Given the description of an element on the screen output the (x, y) to click on. 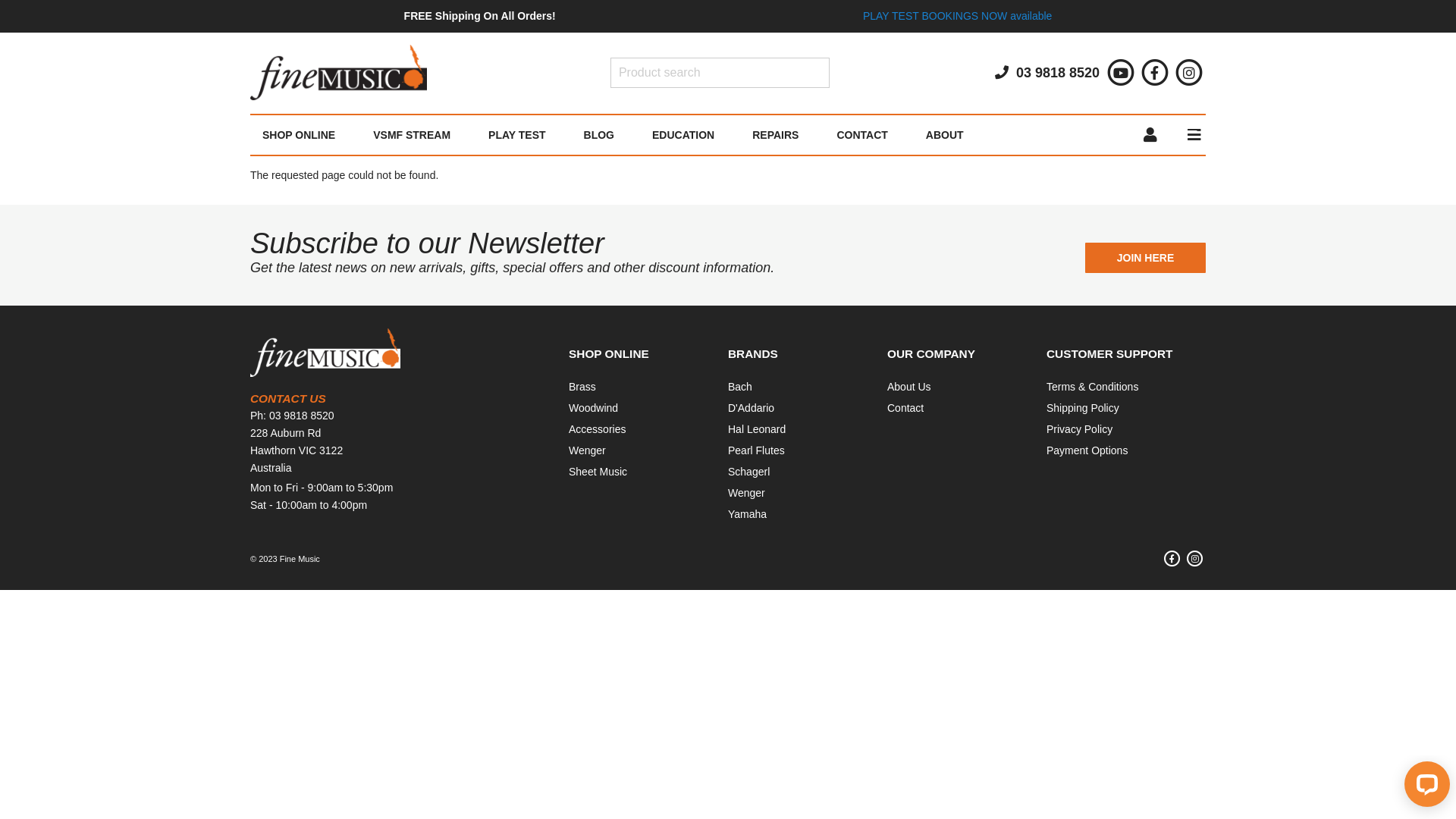
Pearl Flutes Element type: text (756, 450)
PLAY TEST Element type: text (516, 134)
Menu Element type: hover (1188, 134)
Payment Options Element type: text (1086, 450)
Sheet Music Element type: text (597, 471)
About Us Element type: text (909, 386)
FREE Shipping On All Orders! Element type: text (479, 15)
ABOUT Element type: text (944, 134)
Brass Element type: text (582, 386)
Woodwind Element type: text (593, 407)
Yamaha Element type: text (747, 514)
Terms & Conditions Element type: text (1092, 386)
03 9818 8520 Element type: text (1043, 73)
Schagerl Element type: text (748, 471)
Shipping Policy Element type: text (1082, 407)
Skip to main content Element type: text (0, 0)
Bach Element type: text (740, 386)
Accessories Element type: text (596, 429)
BLOG Element type: text (598, 134)
Contact Element type: text (905, 407)
PLAY TEST BOOKINGS NOW available Element type: text (957, 15)
D'Addario Element type: text (751, 407)
Wenger Element type: text (746, 492)
Wenger Element type: text (586, 450)
CONTACT Element type: text (861, 134)
EDUCATION Element type: text (683, 134)
Hal Leonard Element type: text (756, 429)
SHOP ONLINE Element type: text (302, 134)
REPAIRS Element type: text (775, 134)
JOIN HERE Element type: text (1145, 257)
VSMF STREAM Element type: text (411, 134)
Privacy Policy Element type: text (1079, 429)
home Element type: hover (338, 72)
